Given the description of an element on the screen output the (x, y) to click on. 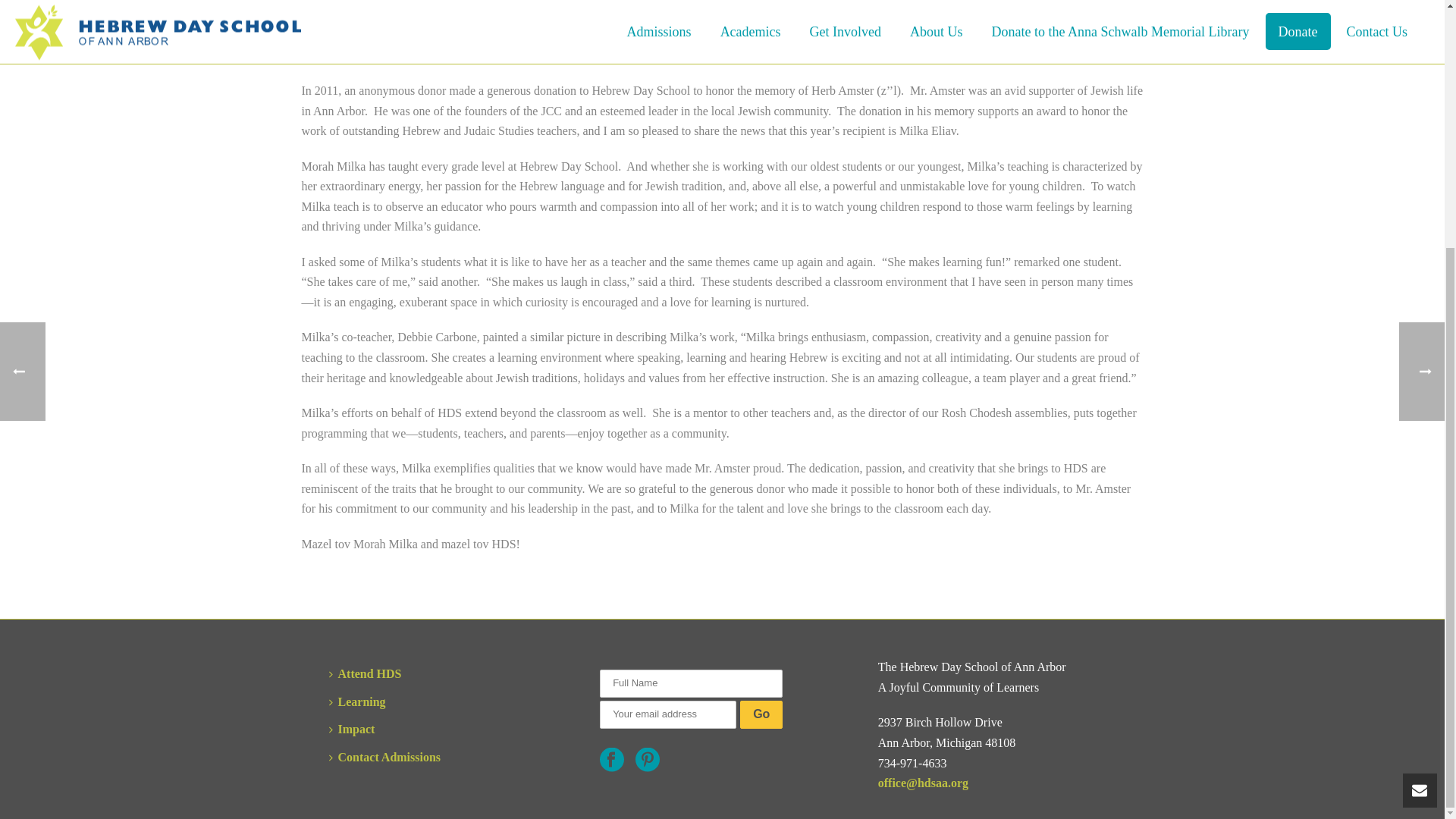
Go (761, 714)
